Given the description of an element on the screen output the (x, y) to click on. 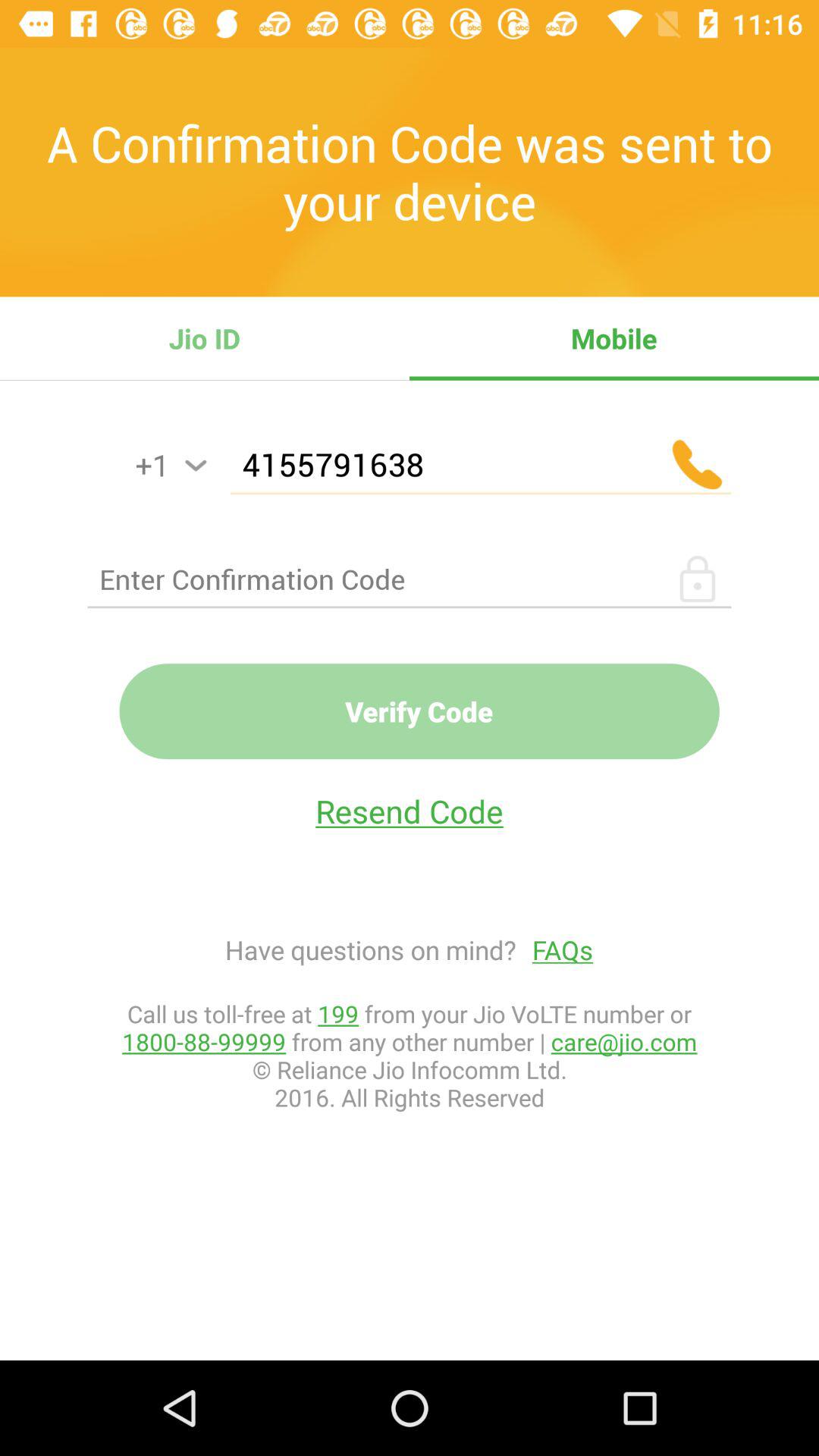
tap the icon next to the 4155791638 icon (195, 465)
